Given the description of an element on the screen output the (x, y) to click on. 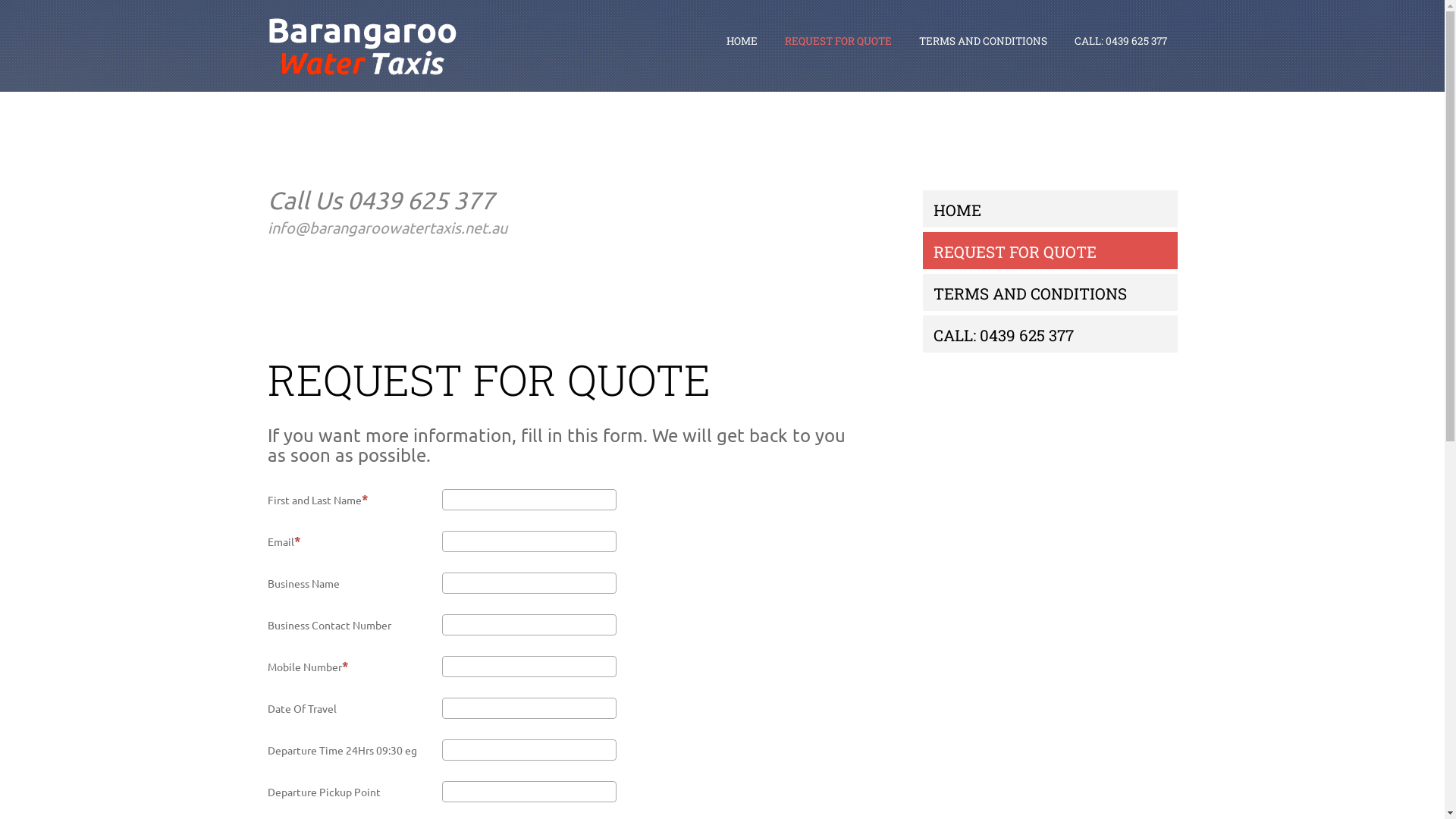
TERMS AND CONDITIONS Element type: text (1029, 293)
HOME Element type: text (957, 209)
CALL: 0439 625 377 Element type: text (1119, 40)
TERMS AND CONDITIONS Element type: text (983, 40)
REQUEST FOR QUOTE Element type: text (837, 40)
CALL: 0439 625 377 Element type: text (1003, 334)
REQUEST FOR QUOTE Element type: text (1014, 251)
REQUEST FOR QUOTE Element type: text (837, 41)
TERMS AND CONDITIONS Element type: text (983, 41)
HOME Element type: text (741, 41)
HOME Element type: text (741, 40)
CALL: 0439 625 377 Element type: text (1119, 41)
